Given the description of an element on the screen output the (x, y) to click on. 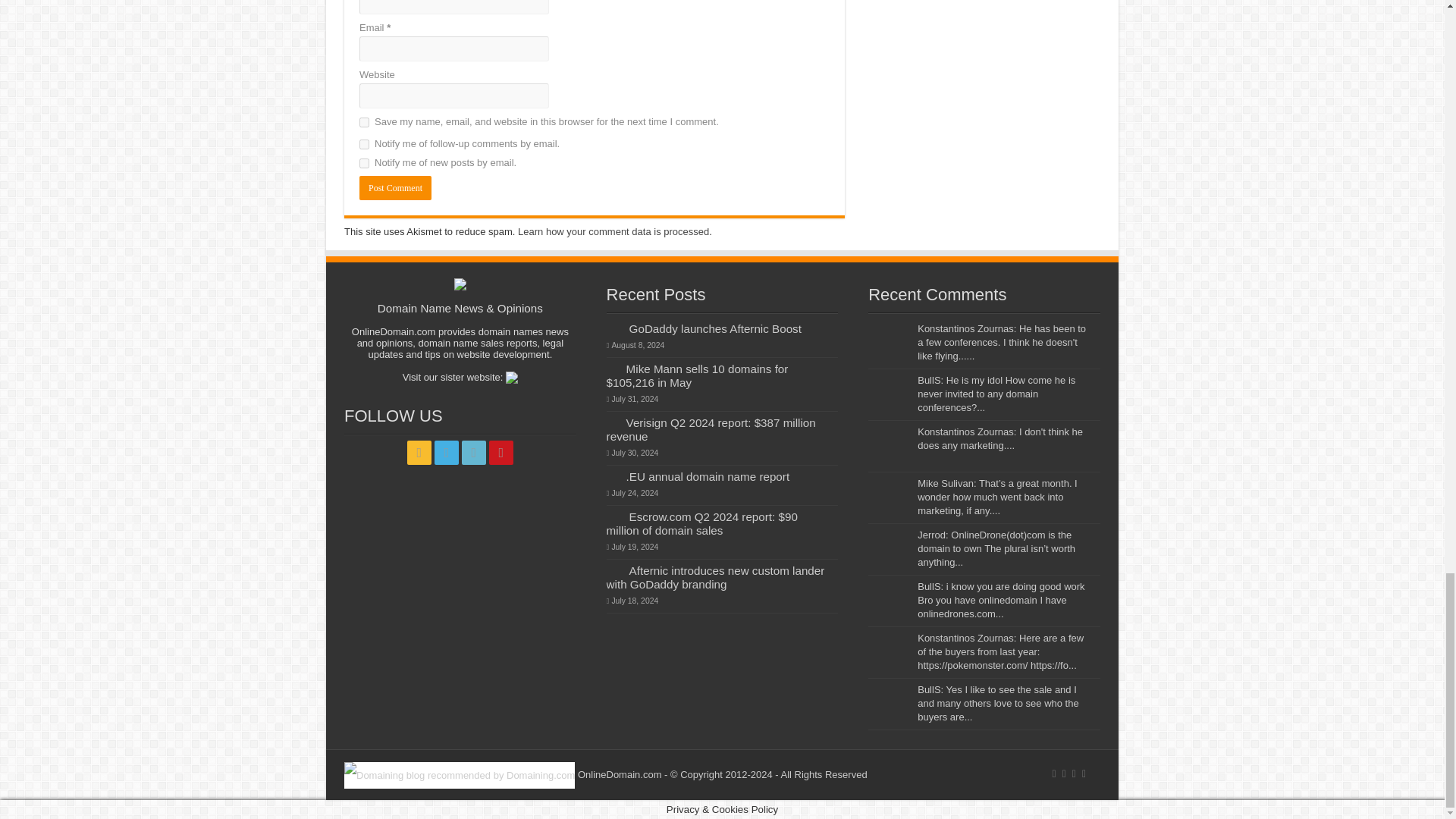
subscribe (364, 144)
subscribe (364, 163)
yes (364, 122)
Post Comment (394, 187)
